Given the description of an element on the screen output the (x, y) to click on. 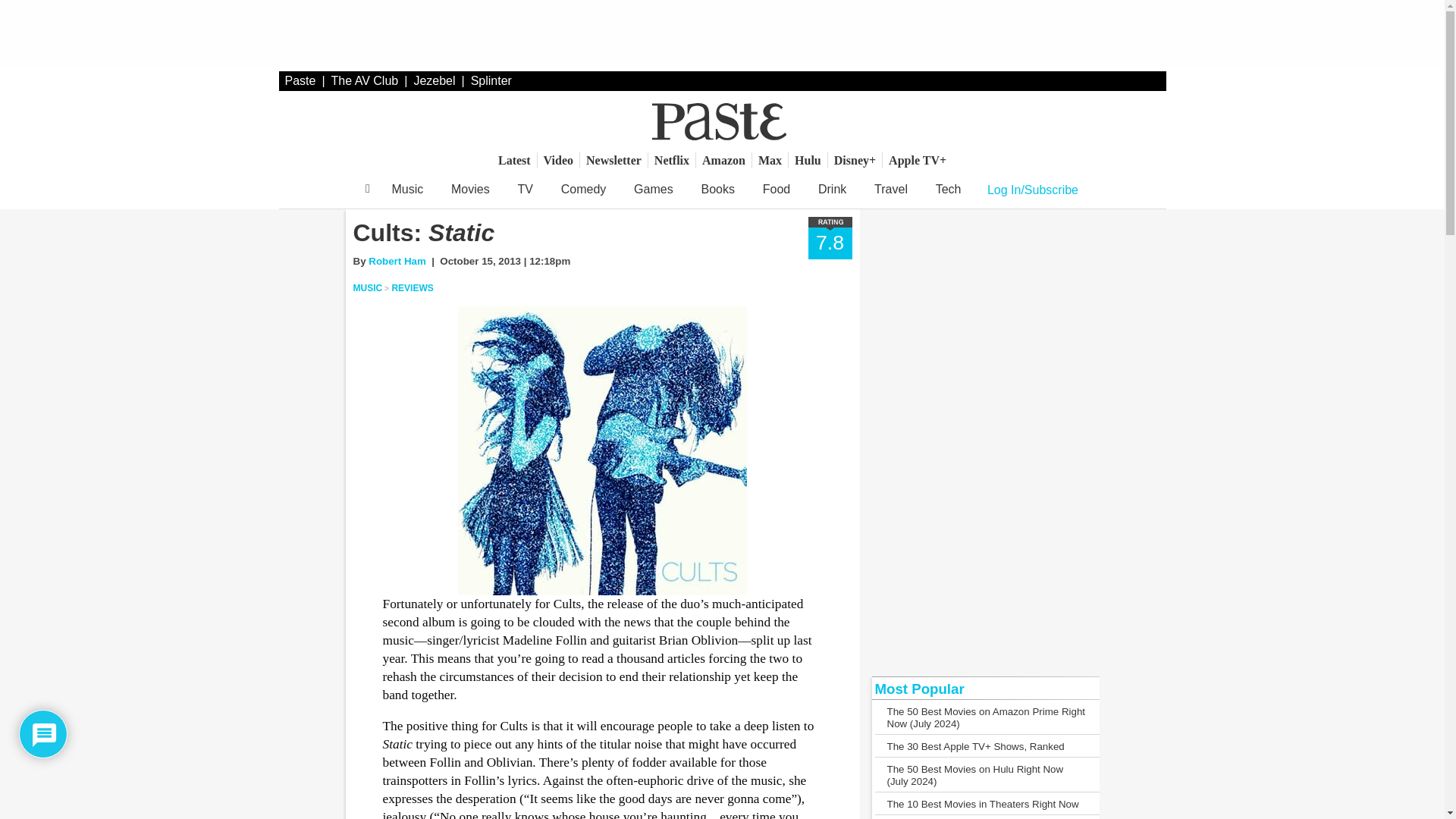
Video (558, 160)
Newsletter (613, 160)
Netflix (671, 160)
The AV Club (364, 80)
Paste (300, 80)
Max (769, 160)
Jezebel (433, 80)
Hulu (808, 160)
Latest (514, 160)
Amazon (723, 160)
Splinter (491, 80)
